Given the description of an element on the screen output the (x, y) to click on. 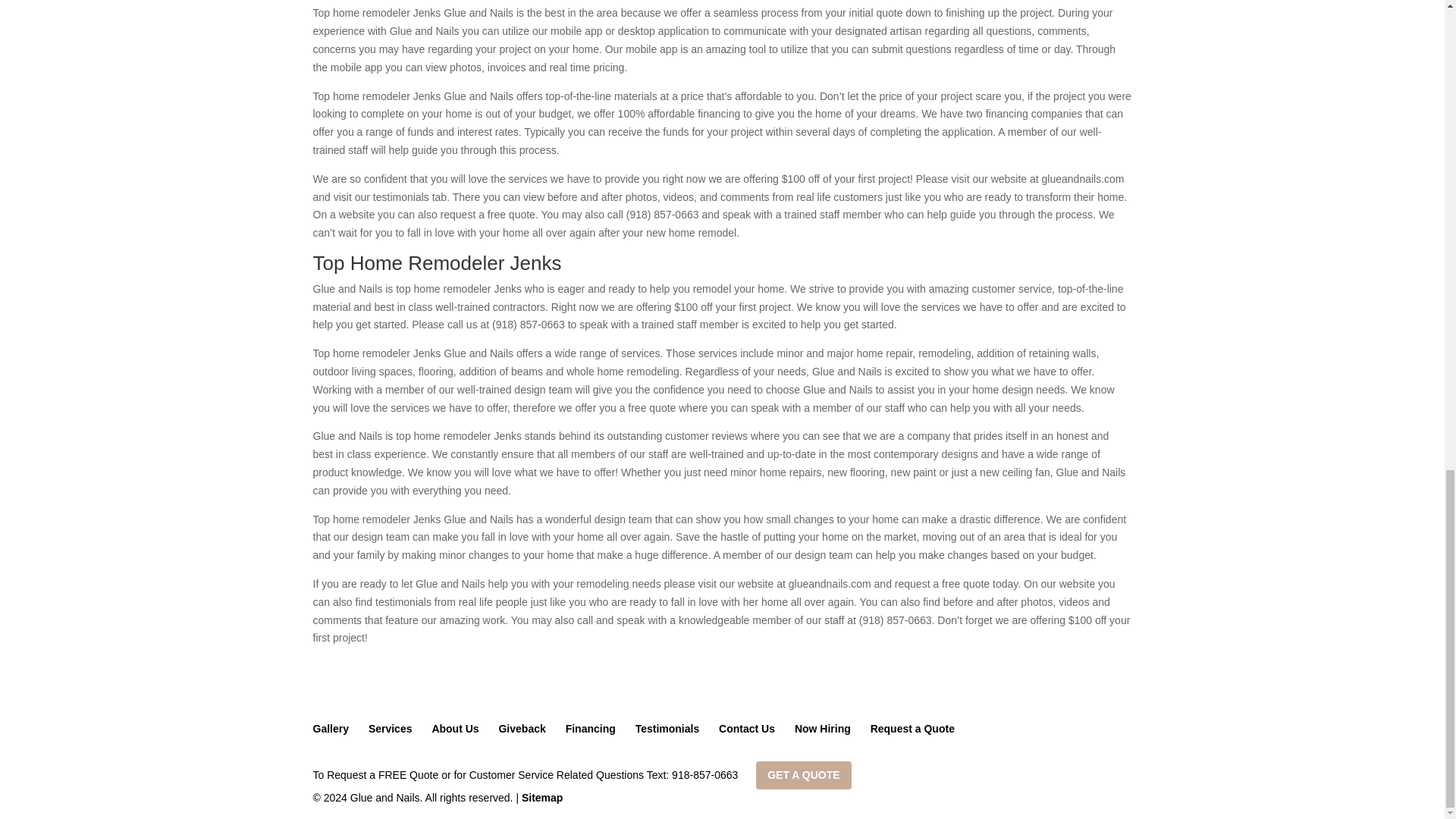
Testimonials (667, 728)
Services (390, 728)
Sitemap (541, 797)
Gallery (330, 728)
GET A QUOTE (802, 775)
Now Hiring (822, 728)
Financing (590, 728)
Contact Us (746, 728)
Giveback (520, 728)
About Us (454, 728)
